Given the description of an element on the screen output the (x, y) to click on. 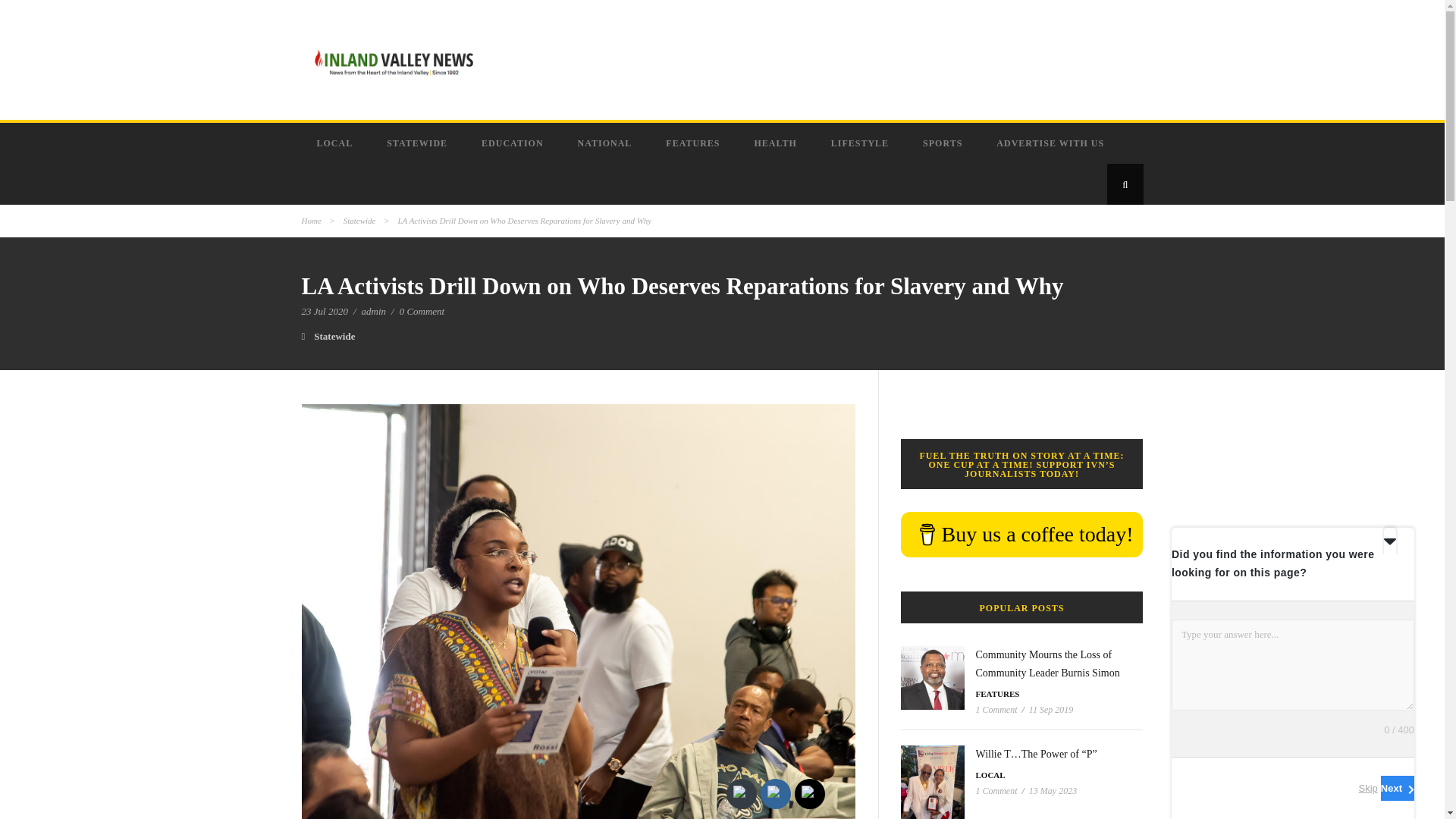
FEATURES (997, 693)
SPORTS (944, 142)
Facebook (775, 793)
Buy us a coffee today! (1021, 534)
23 Jul 2020 (324, 310)
admin (374, 310)
Home (311, 220)
LOCAL (336, 142)
Follow by Email (740, 793)
EDUCATION (513, 142)
